Given the description of an element on the screen output the (x, y) to click on. 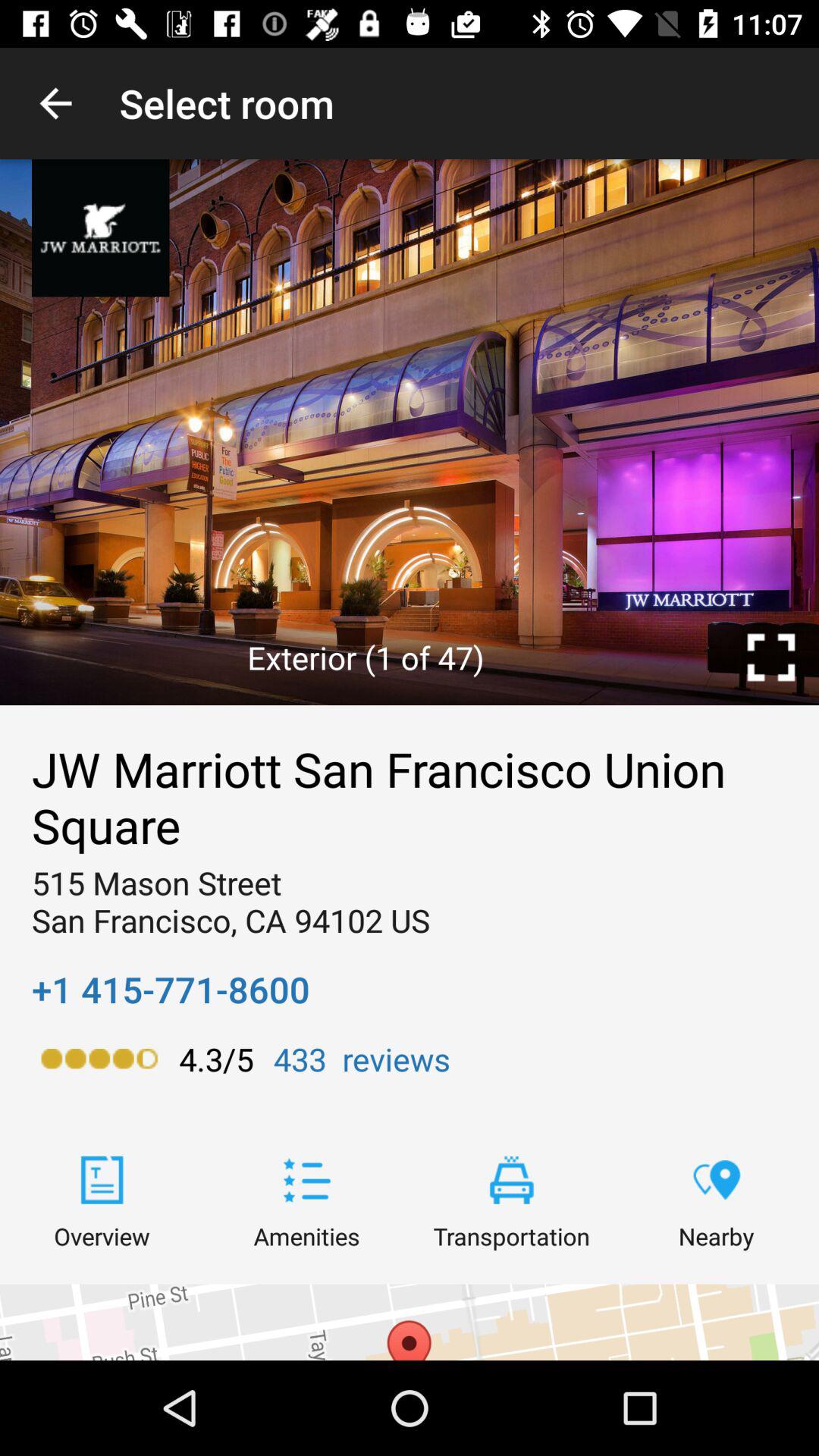
select the item above the 4.3/5 icon (170, 989)
